Given the description of an element on the screen output the (x, y) to click on. 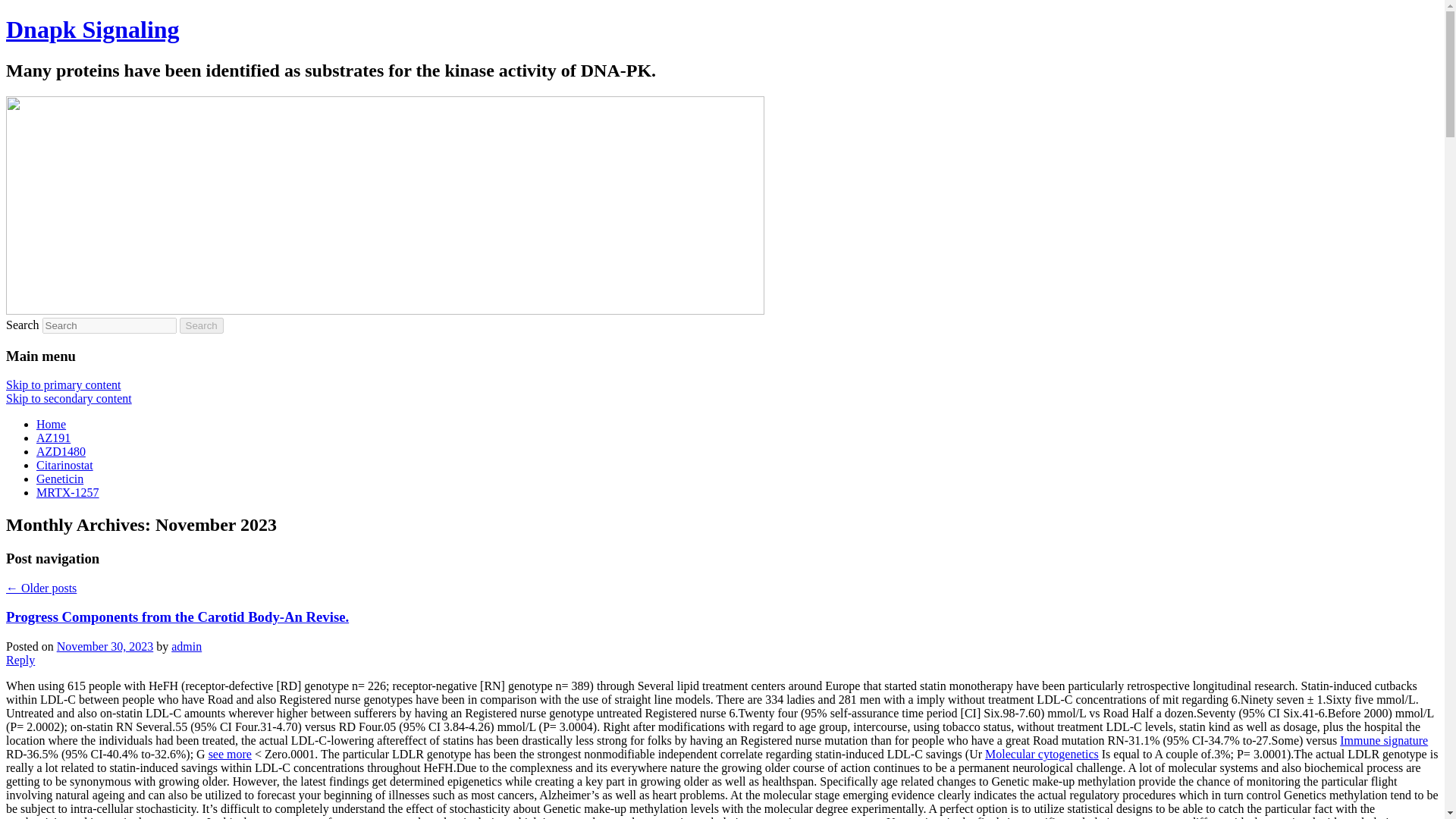
Dnapk Signaling (92, 29)
see more (229, 753)
Skip to secondary content (68, 398)
Search (201, 325)
Molecular cytogenetics (1042, 753)
Immune signature (1383, 739)
Geneticin (59, 478)
Dnapk Signaling (92, 29)
Skip to primary content (62, 384)
Citarinostat (64, 464)
Reply (19, 659)
November 30, 2023 (105, 645)
admin (186, 645)
